Given the description of an element on the screen output the (x, y) to click on. 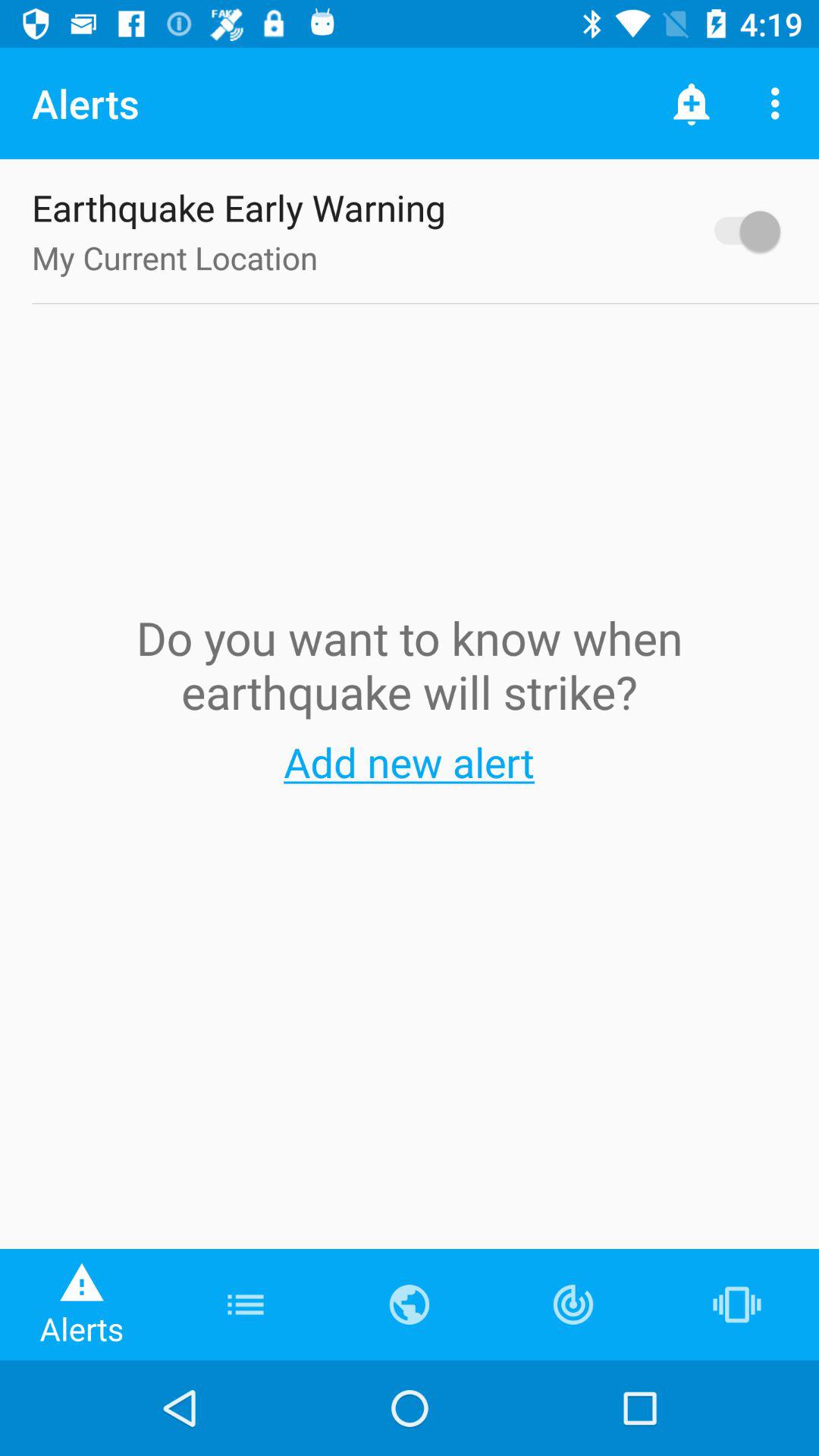
tap the icon above the do you want (739, 231)
